Given the description of an element on the screen output the (x, y) to click on. 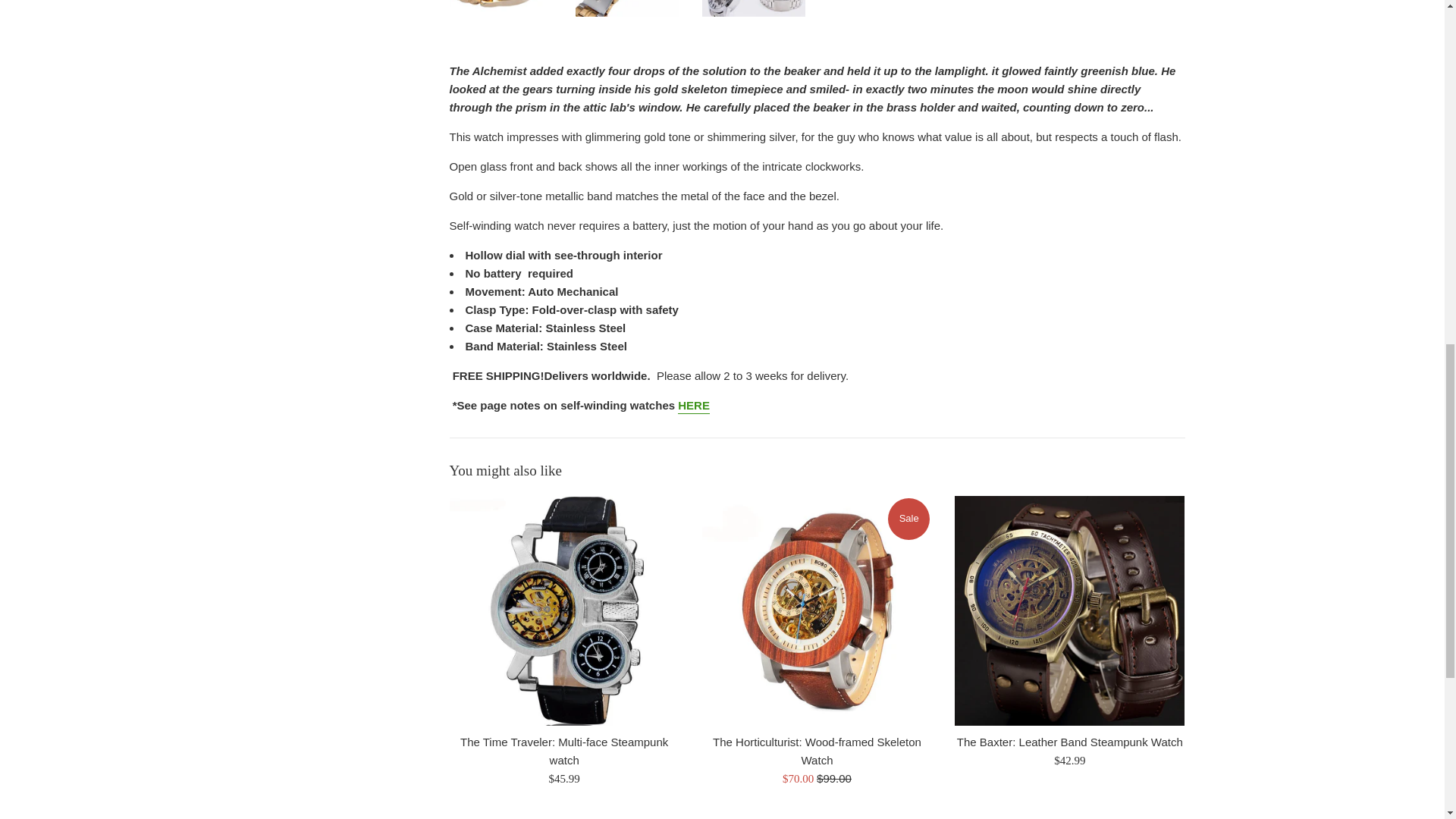
The Horticulturist:  Wood-framed  Skeleton Watch (816, 610)
The Baxter:  Leather Band Steampunk Watch (1070, 610)
HERE (694, 406)
The Time Traveler:  Multi-face Steampunk watch (563, 610)
About Self-winding watches (694, 406)
The Time Traveler: Multi-face Steampunk watch (564, 750)
